Given the description of an element on the screen output the (x, y) to click on. 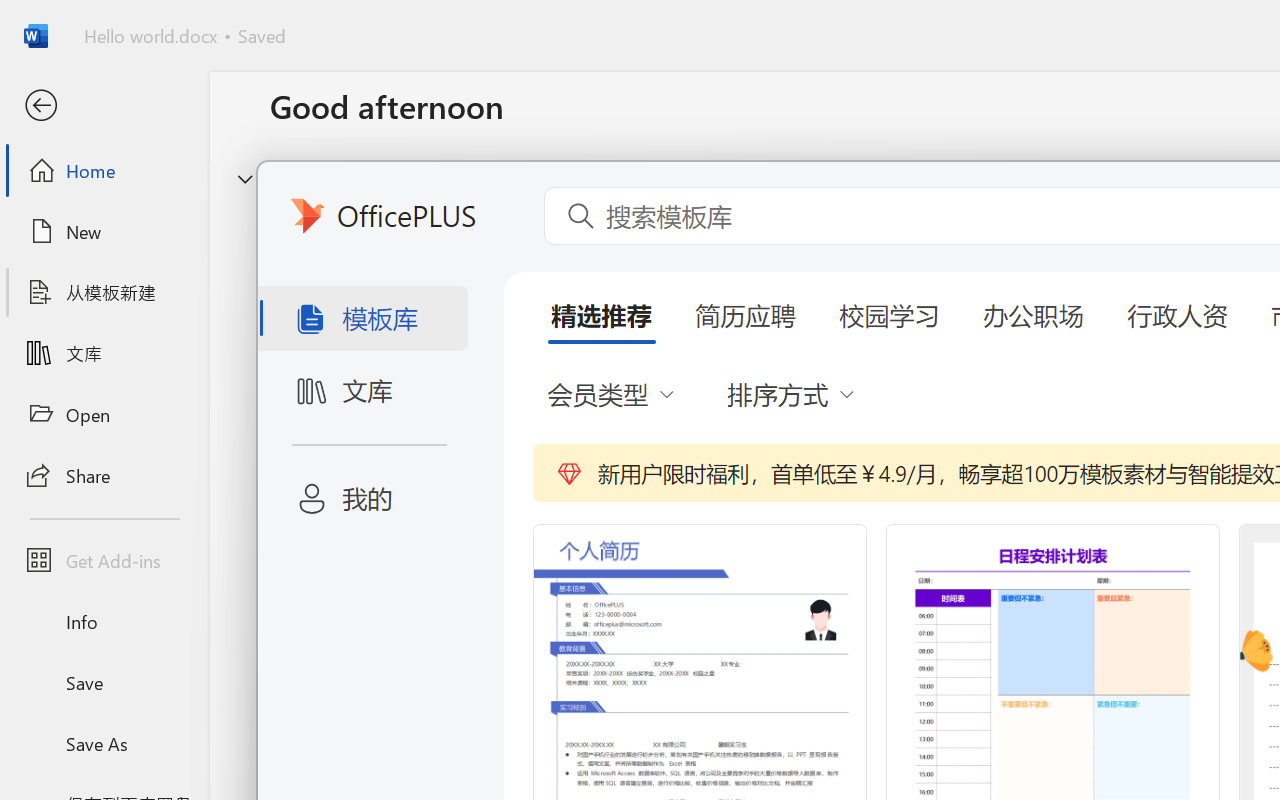
Color & Contrast (392, 168)
Subtitle Settings (884, 132)
